Given the description of an element on the screen output the (x, y) to click on. 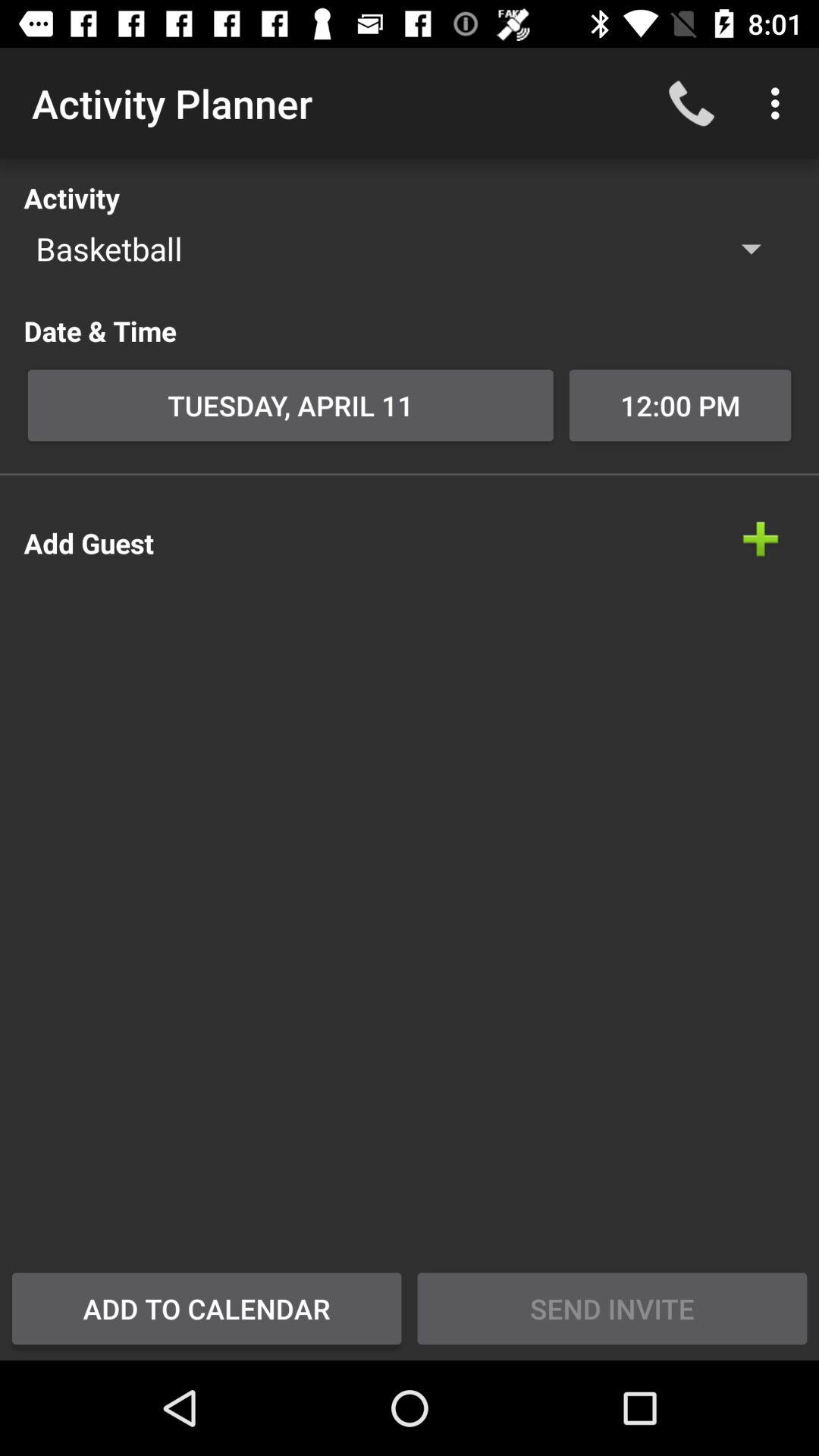
scroll until add to calendar item (206, 1308)
